Given the description of an element on the screen output the (x, y) to click on. 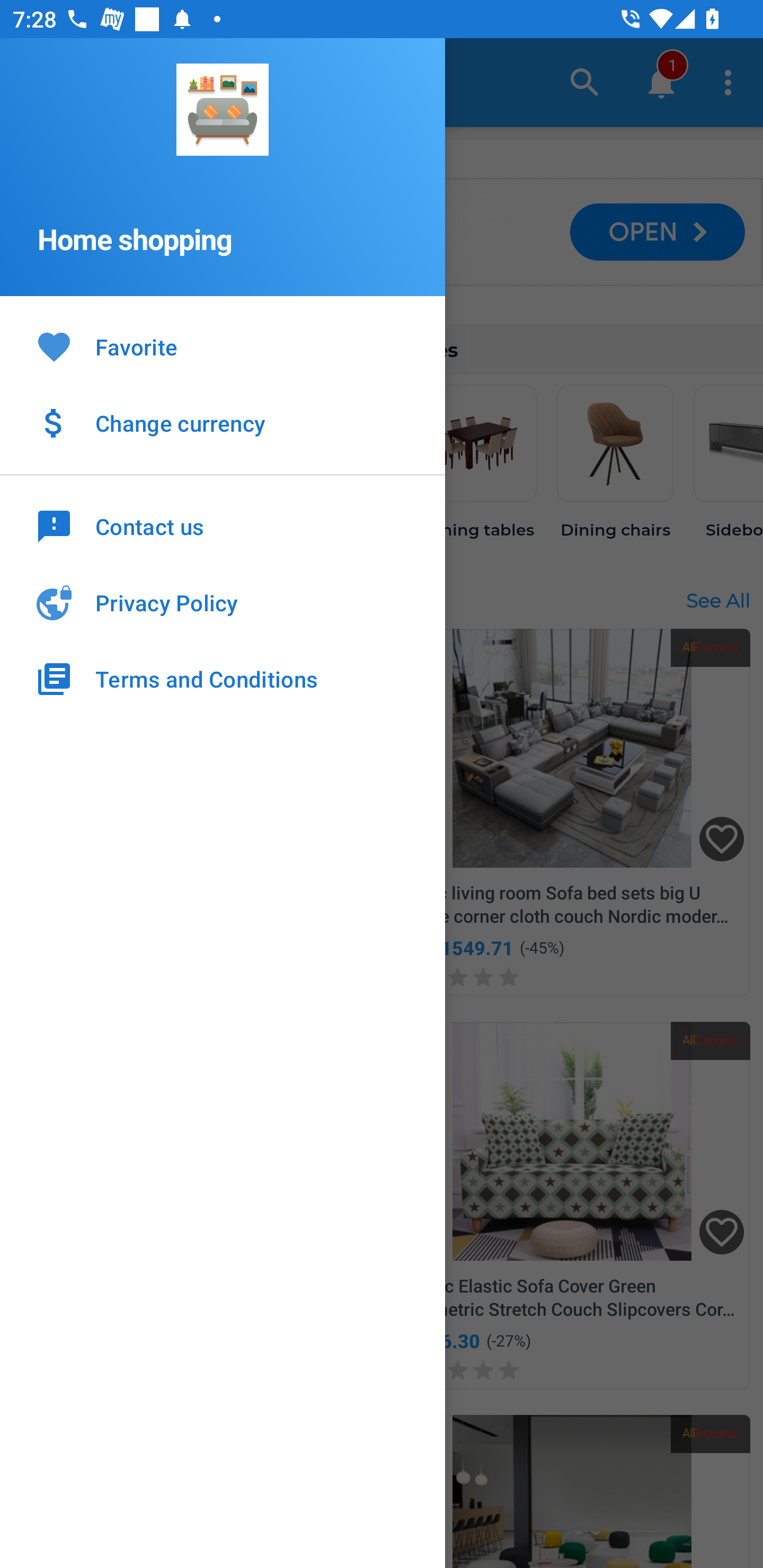
Get Quotations. (138, 231)
Favorite (222, 346)
Change currency (222, 422)
Contact us (222, 525)
Privacy Policy (222, 602)
Terms and Conditions (222, 678)
